Given the description of an element on the screen output the (x, y) to click on. 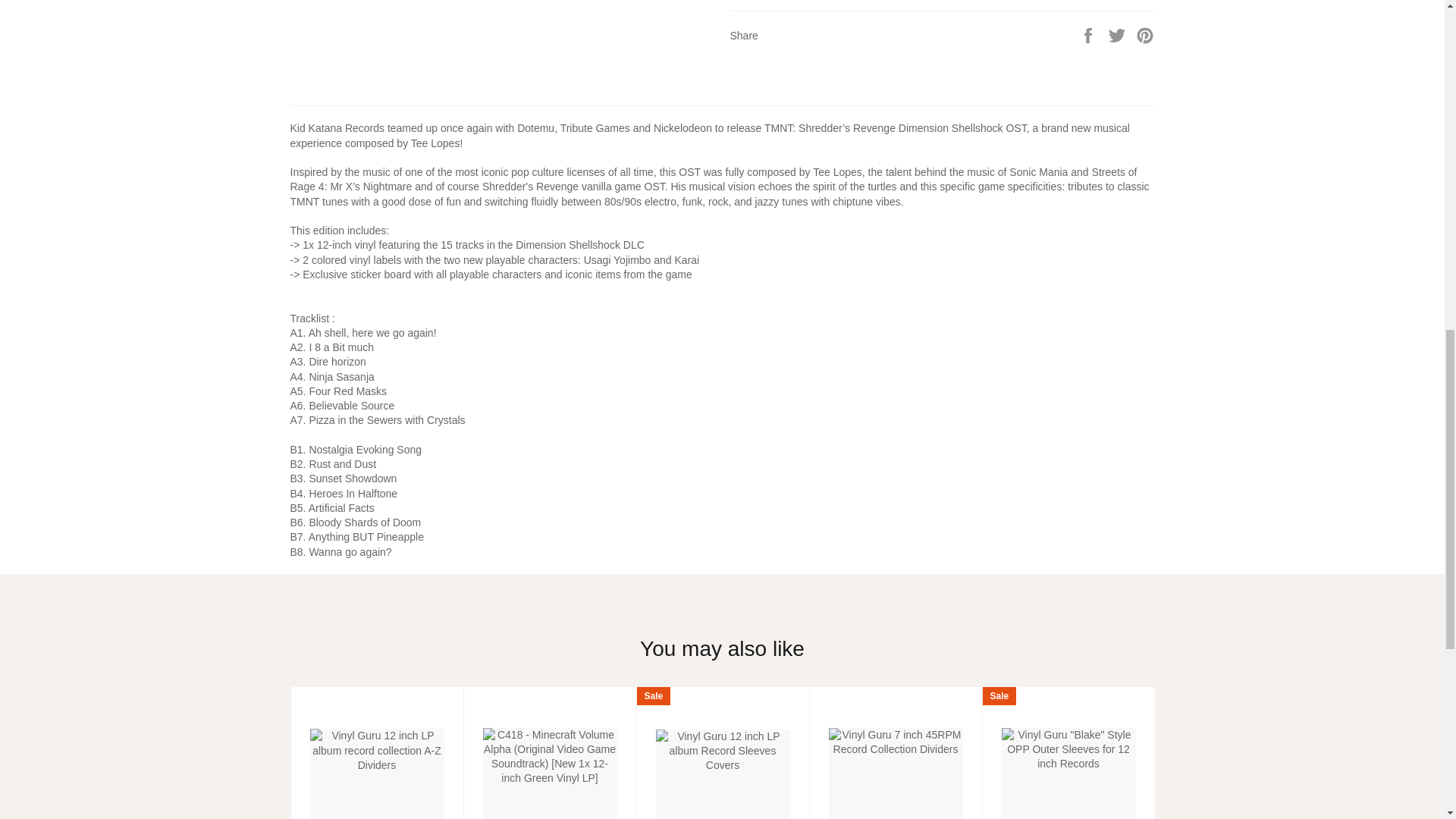
Share on Facebook (1089, 34)
Pin on Pinterest (1144, 34)
Tweet on Twitter (1118, 34)
